Given the description of an element on the screen output the (x, y) to click on. 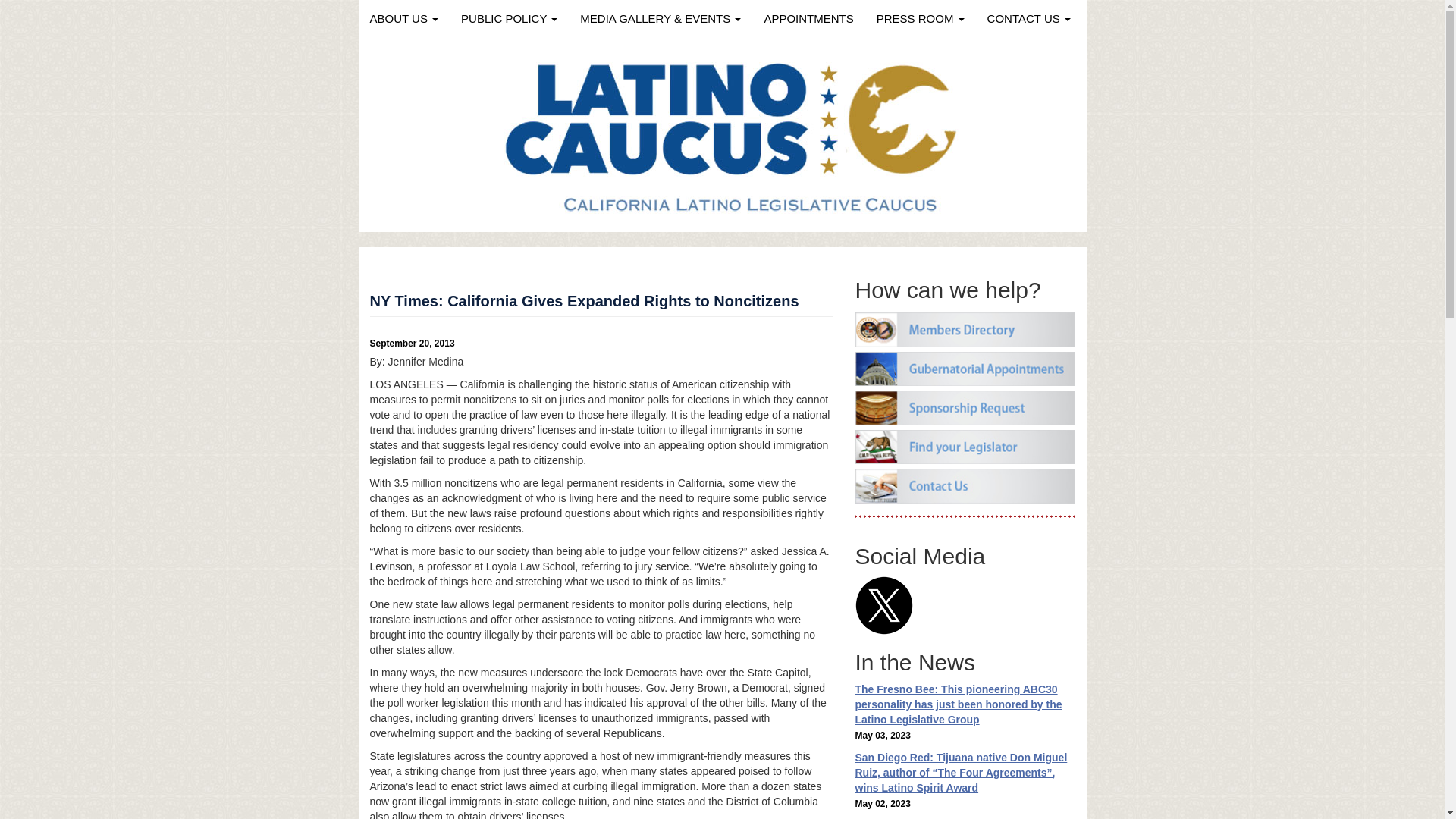
CONTACT US (1028, 18)
Appointments (808, 18)
PRESS ROOM (919, 18)
ABOUT US (403, 18)
Press Room (919, 18)
PUBLIC POLICY (509, 18)
About Us (403, 18)
Public Policy (509, 18)
APPOINTMENTS (808, 18)
